Given the description of an element on the screen output the (x, y) to click on. 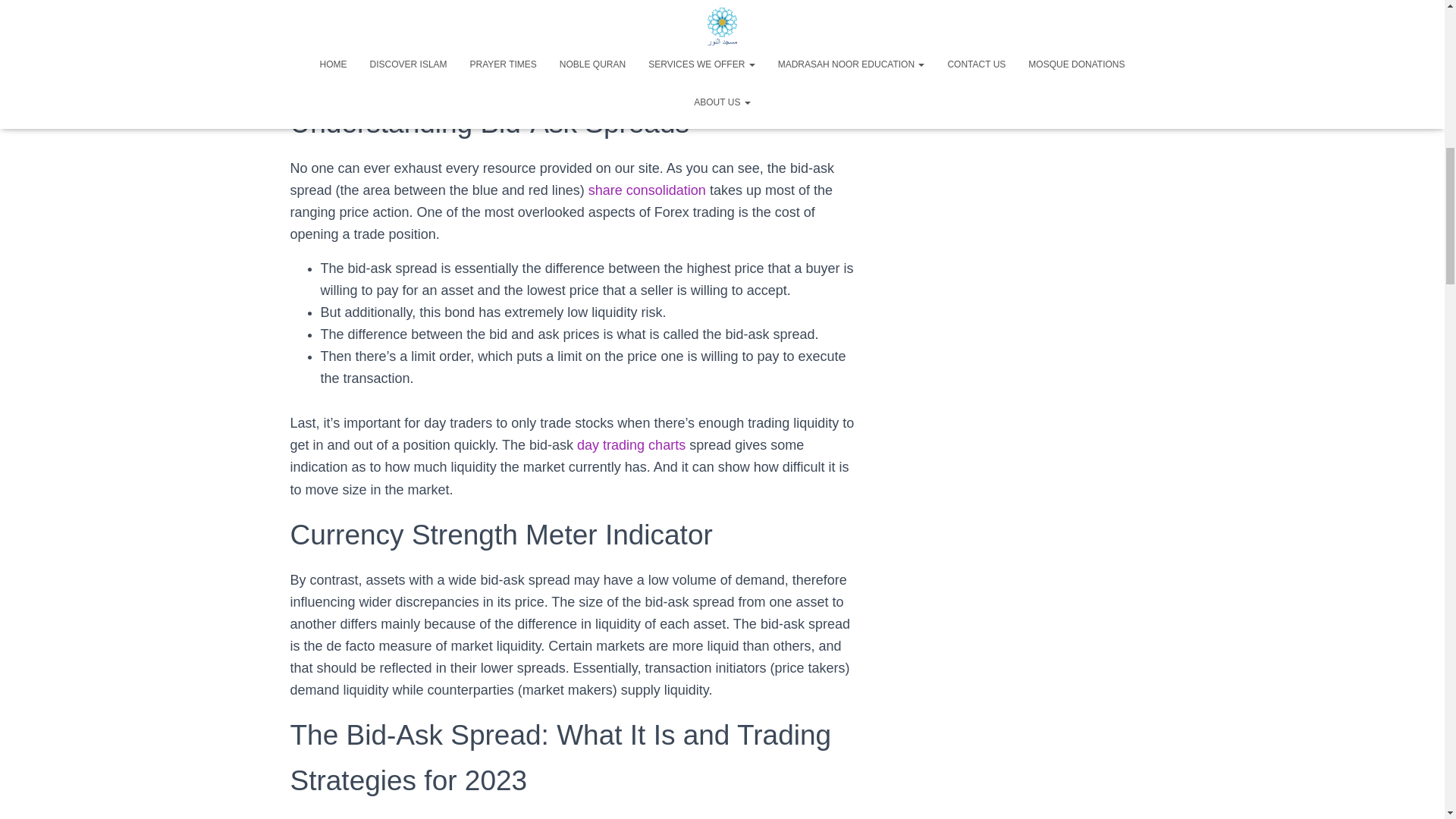
share consolidation (647, 190)
day trading charts (630, 444)
